Given the description of an element on the screen output the (x, y) to click on. 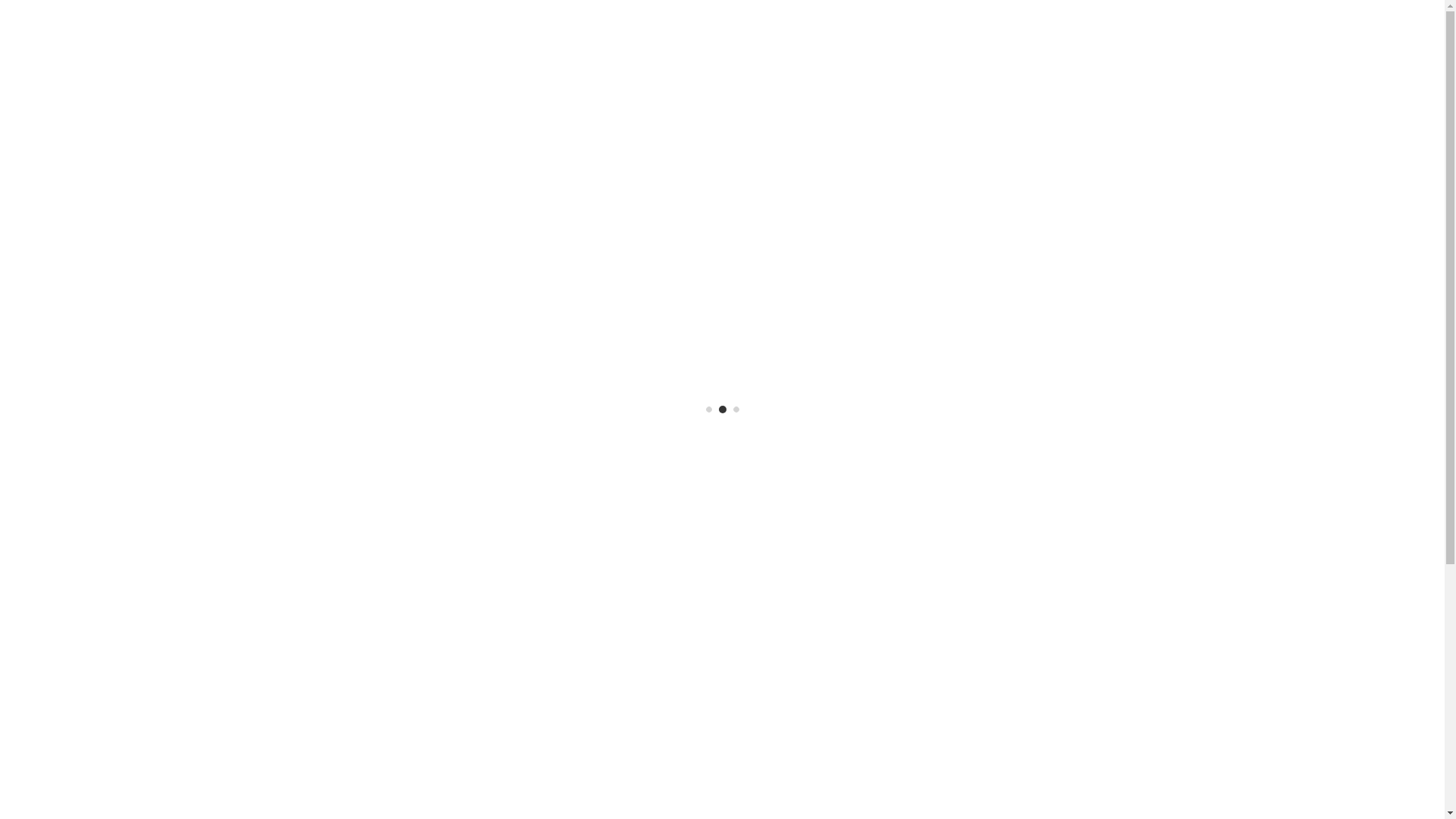
FILMS Element type: text (831, 29)
Fr Element type: text (1168, 30)
ABOUT Element type: text (1009, 29)
Send Element type: text (1247, 719)
En Element type: text (1140, 30)
HOME Element type: text (773, 29)
NEWS Element type: text (949, 29)
CONTACT Element type: text (1080, 29)
SERIES Element type: text (888, 29)
